Given the description of an element on the screen output the (x, y) to click on. 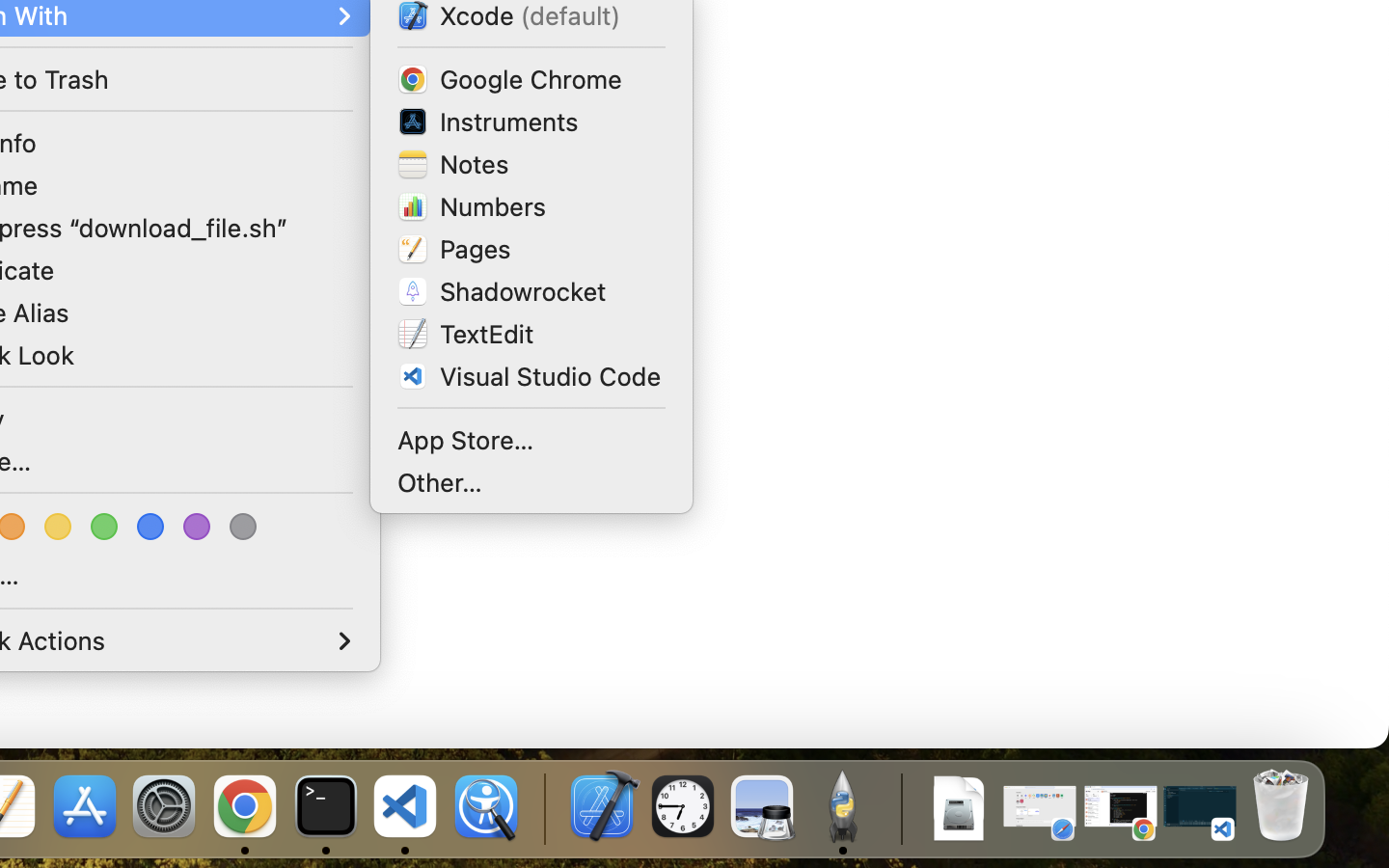
0 Element type: AXRadioButton (59, 526)
0.4285714328289032 Element type: AXDockItem (541, 807)
